Given the description of an element on the screen output the (x, y) to click on. 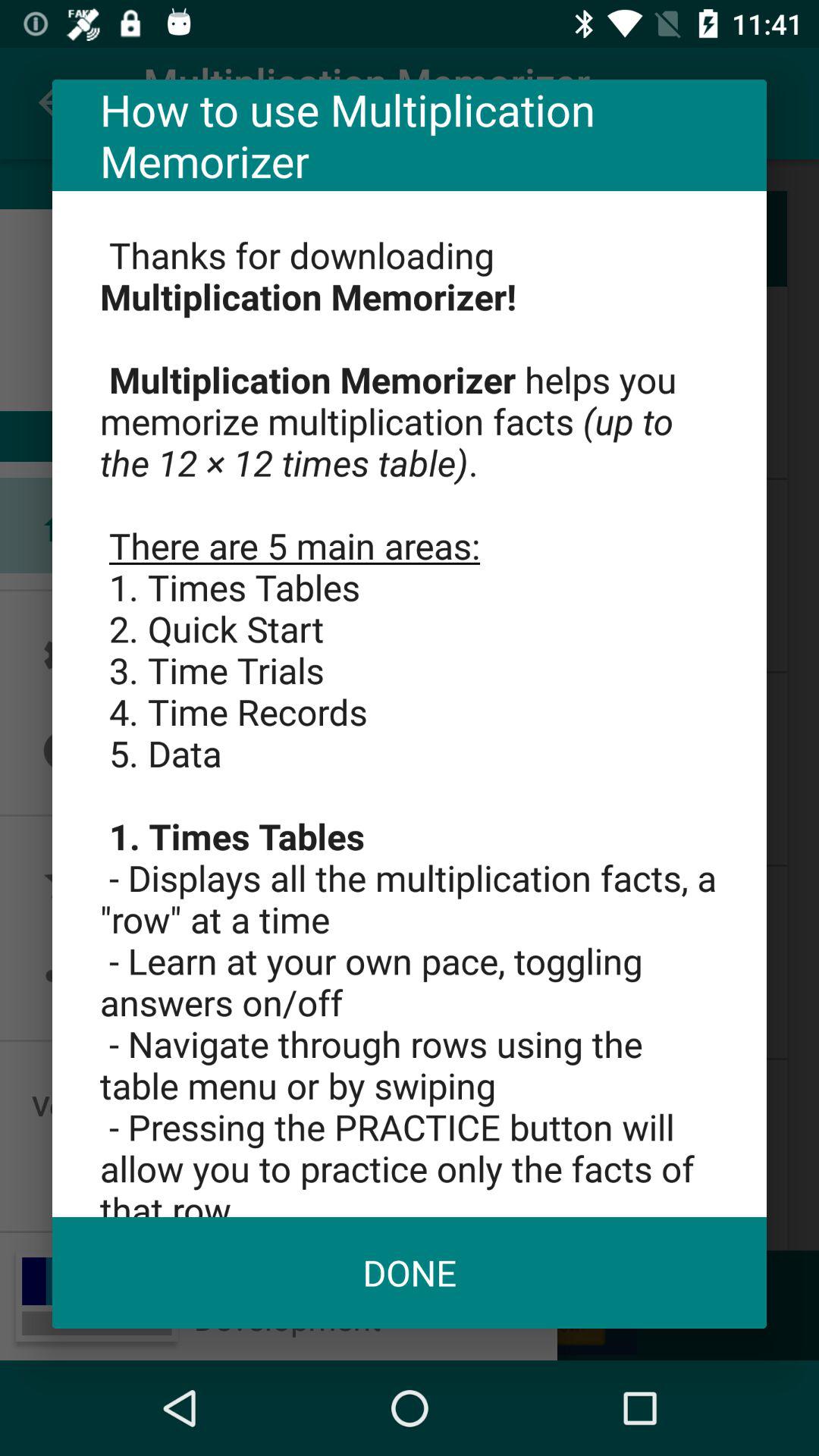
press the done item (409, 1272)
